Given the description of an element on the screen output the (x, y) to click on. 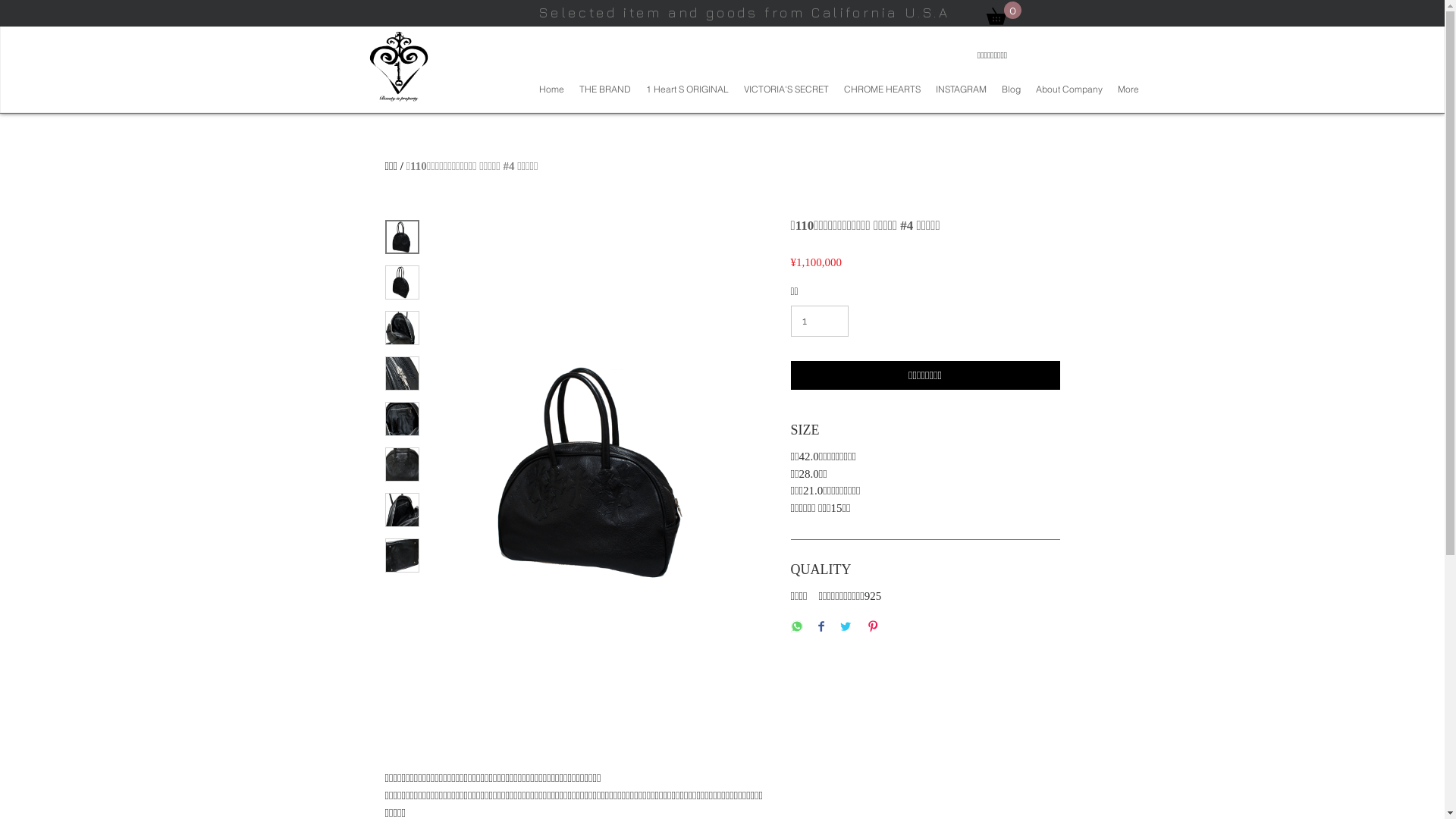
THE BRAND Element type: text (604, 89)
Blog Element type: text (1010, 89)
VICTORIA'S SECRET Element type: text (785, 89)
About Company Element type: text (1069, 89)
1 Heart S ORIGINAL Element type: text (687, 89)
INSTAGRAM Element type: text (961, 89)
Home Element type: text (550, 89)
0 Element type: text (1002, 13)
CHROME HEARTS Element type: text (881, 89)
